Given the description of an element on the screen output the (x, y) to click on. 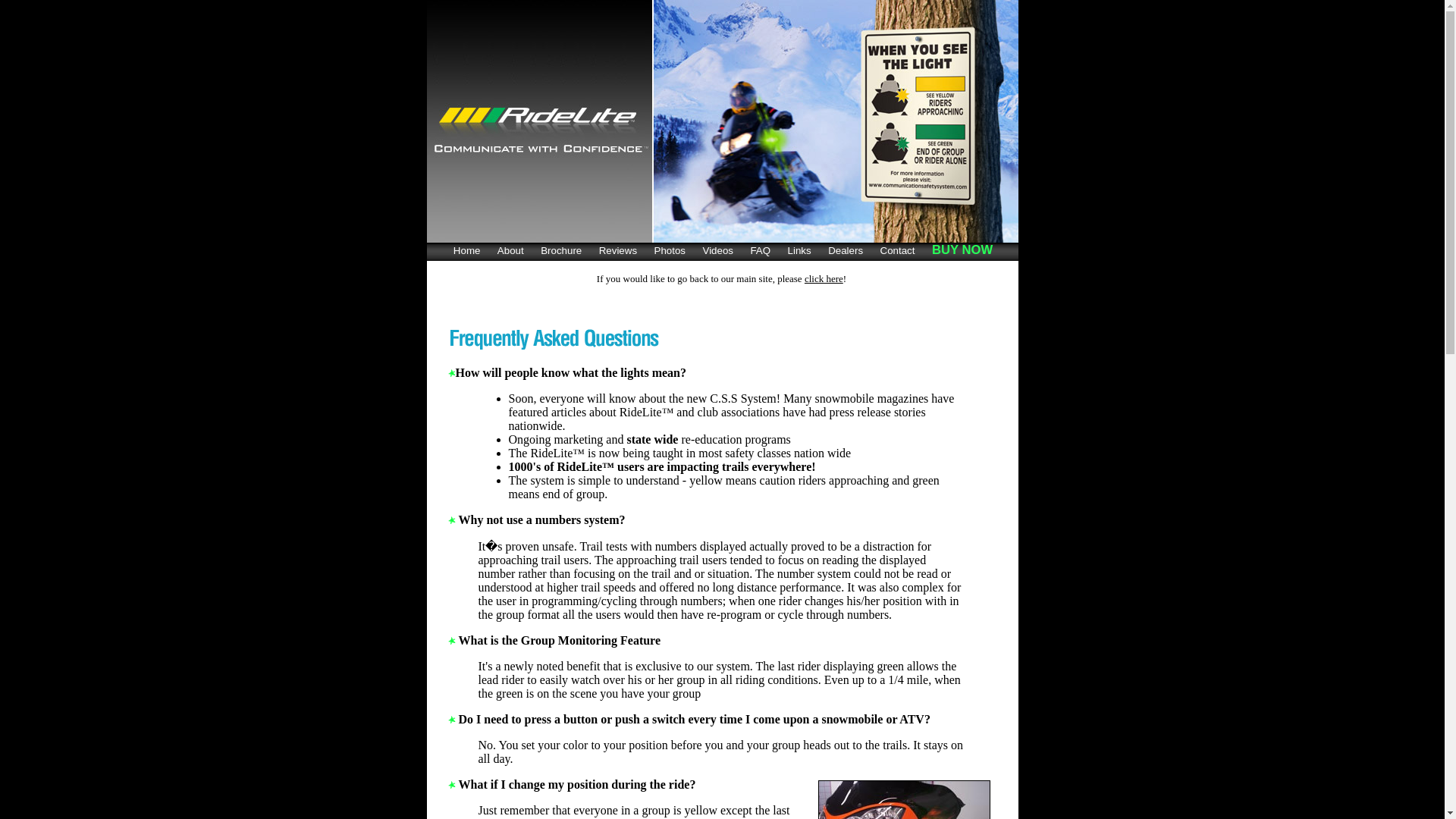
BUY NOW (961, 248)
Photos (669, 248)
Links (798, 248)
click here (824, 278)
FAQ (759, 248)
Dealers (845, 248)
Videos (716, 248)
About (509, 248)
Contact (896, 248)
Brochure (560, 248)
